Given the description of an element on the screen output the (x, y) to click on. 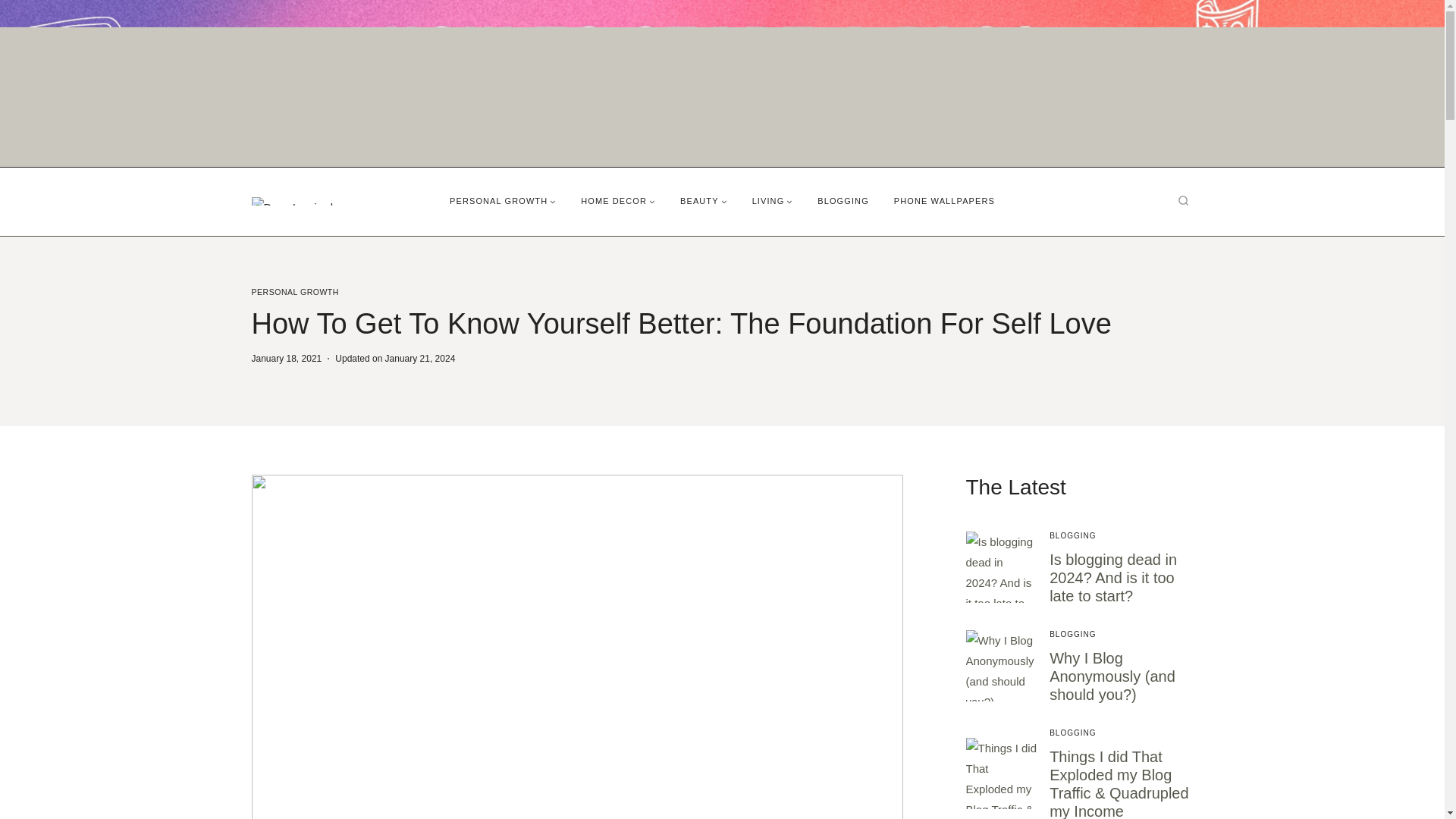
HOME DECOR (618, 201)
BEAUTY (703, 201)
PERSONAL GROWTH (295, 291)
PHONE WALLPAPERS (943, 201)
LIVING (772, 201)
BLOGGING (842, 201)
PERSONAL GROWTH (503, 201)
